Given the description of an element on the screen output the (x, y) to click on. 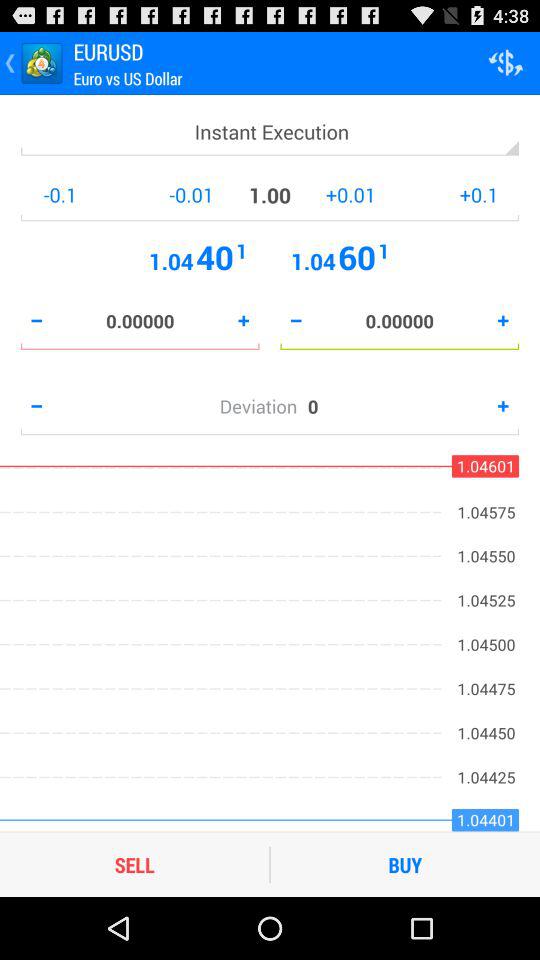
turn on the deviation icon (263, 405)
